Given the description of an element on the screen output the (x, y) to click on. 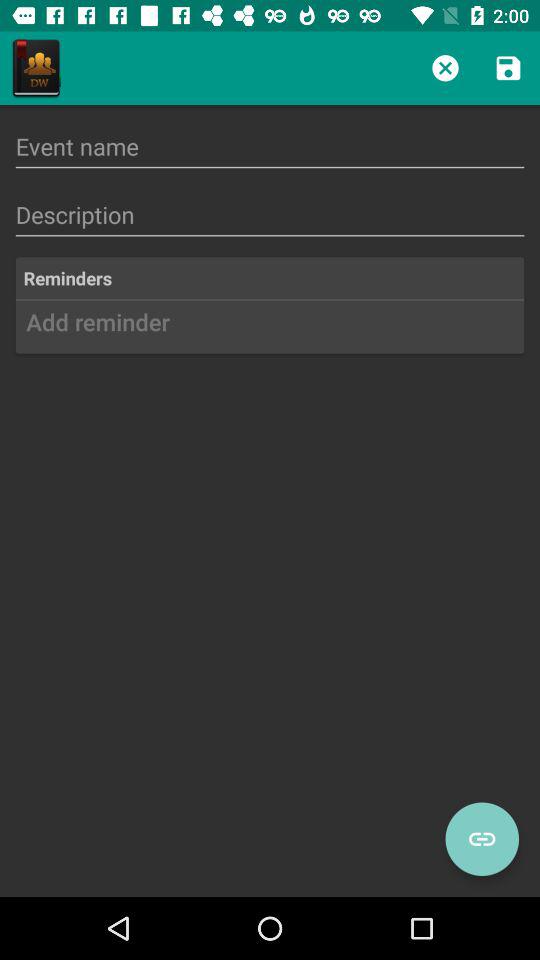
enter description (269, 214)
